Given the description of an element on the screen output the (x, y) to click on. 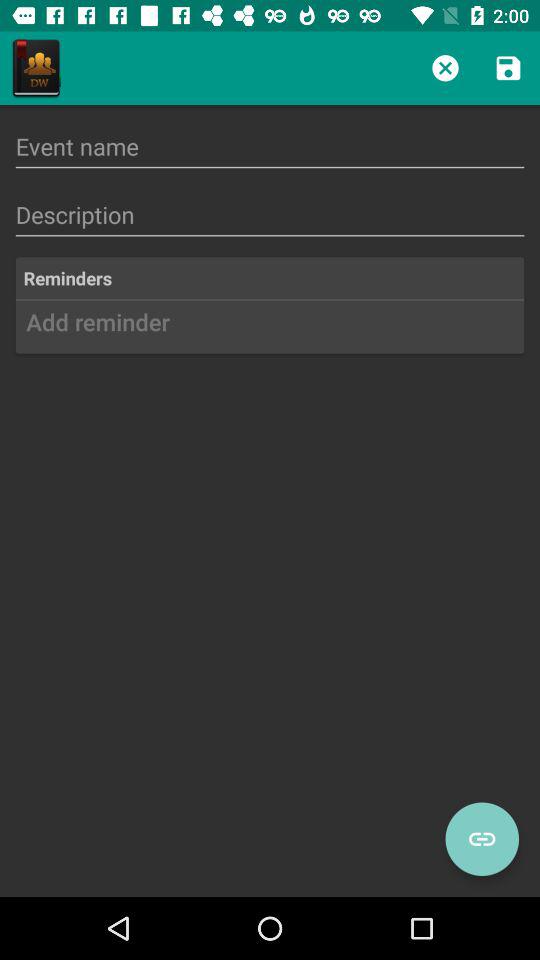
enter description (269, 214)
